Given the description of an element on the screen output the (x, y) to click on. 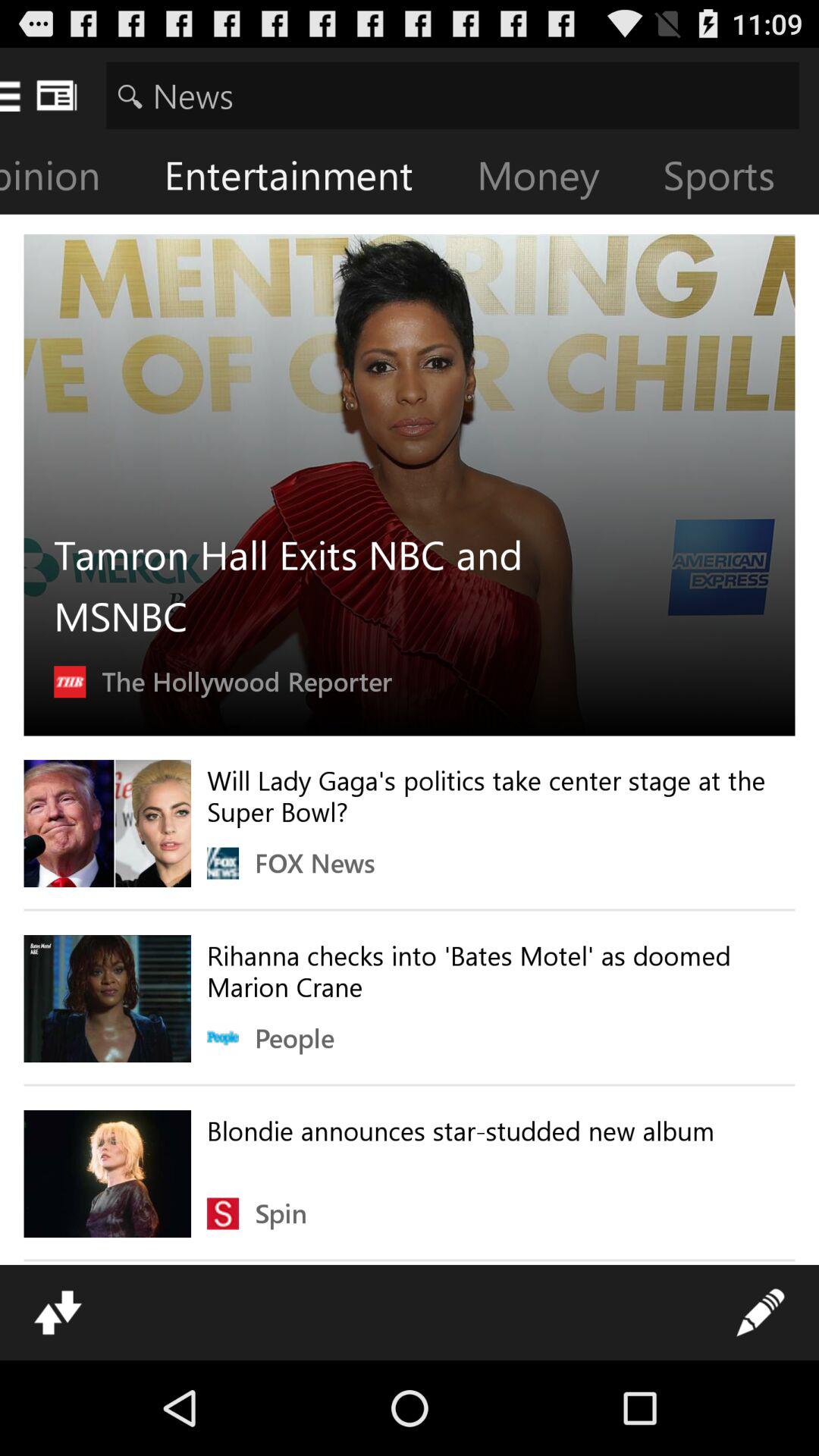
turn on the sports icon (731, 178)
